Given the description of an element on the screen output the (x, y) to click on. 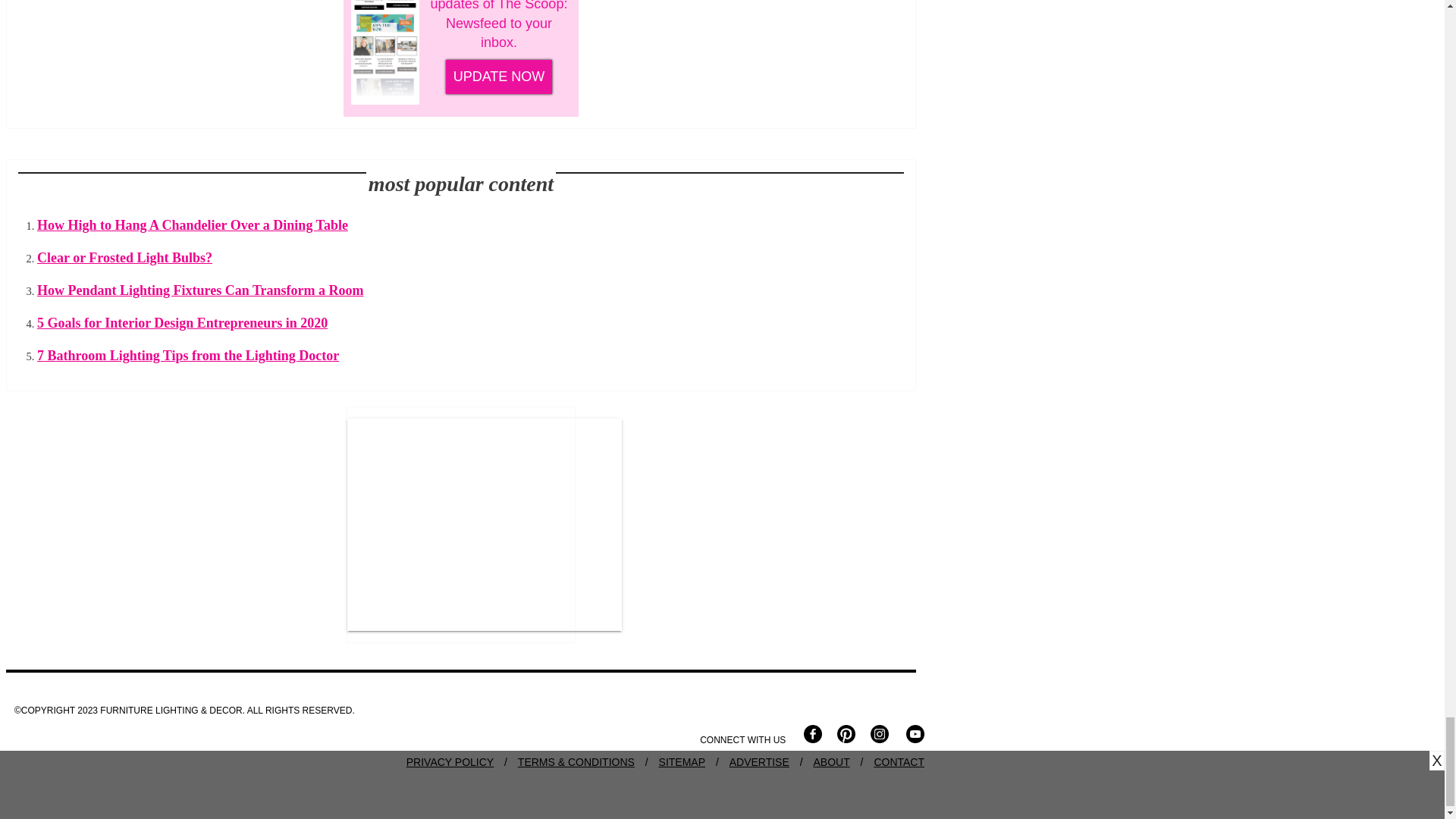
3rd party ad content (484, 524)
Privacy Policy  (449, 761)
